Given the description of an element on the screen output the (x, y) to click on. 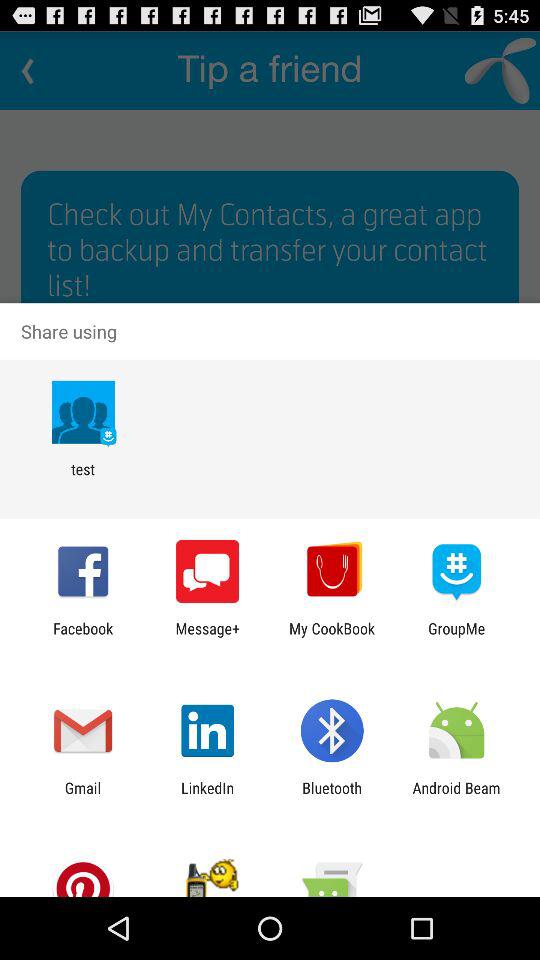
scroll to facebook icon (83, 637)
